Given the description of an element on the screen output the (x, y) to click on. 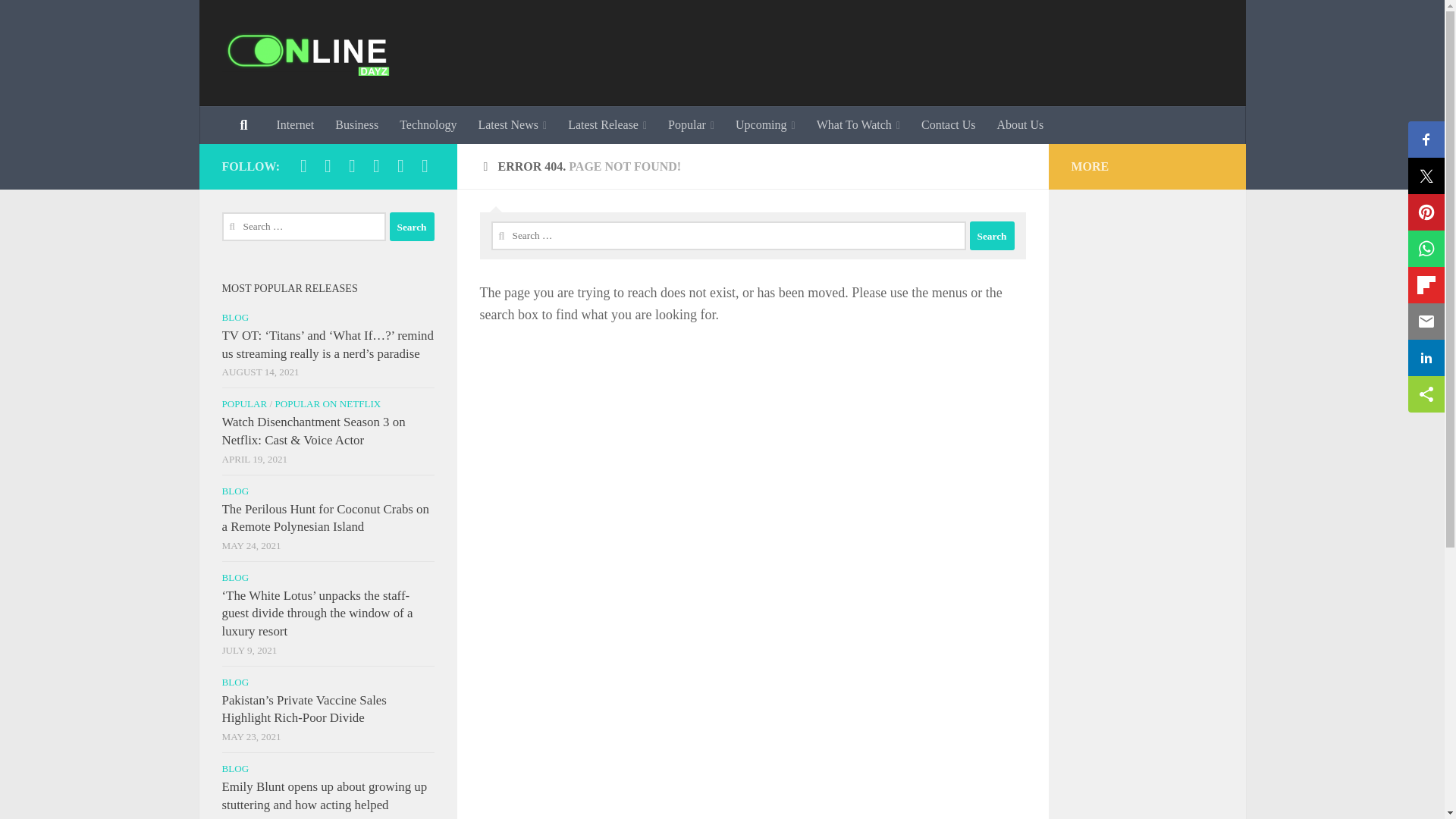
Follow us on Linkedin (351, 166)
Search (991, 235)
What To Watch (858, 125)
Latest Release (607, 125)
Business (356, 125)
Search (991, 235)
Technology (427, 125)
Popular (691, 125)
Upcoming (765, 125)
Search (411, 226)
